Given the description of an element on the screen output the (x, y) to click on. 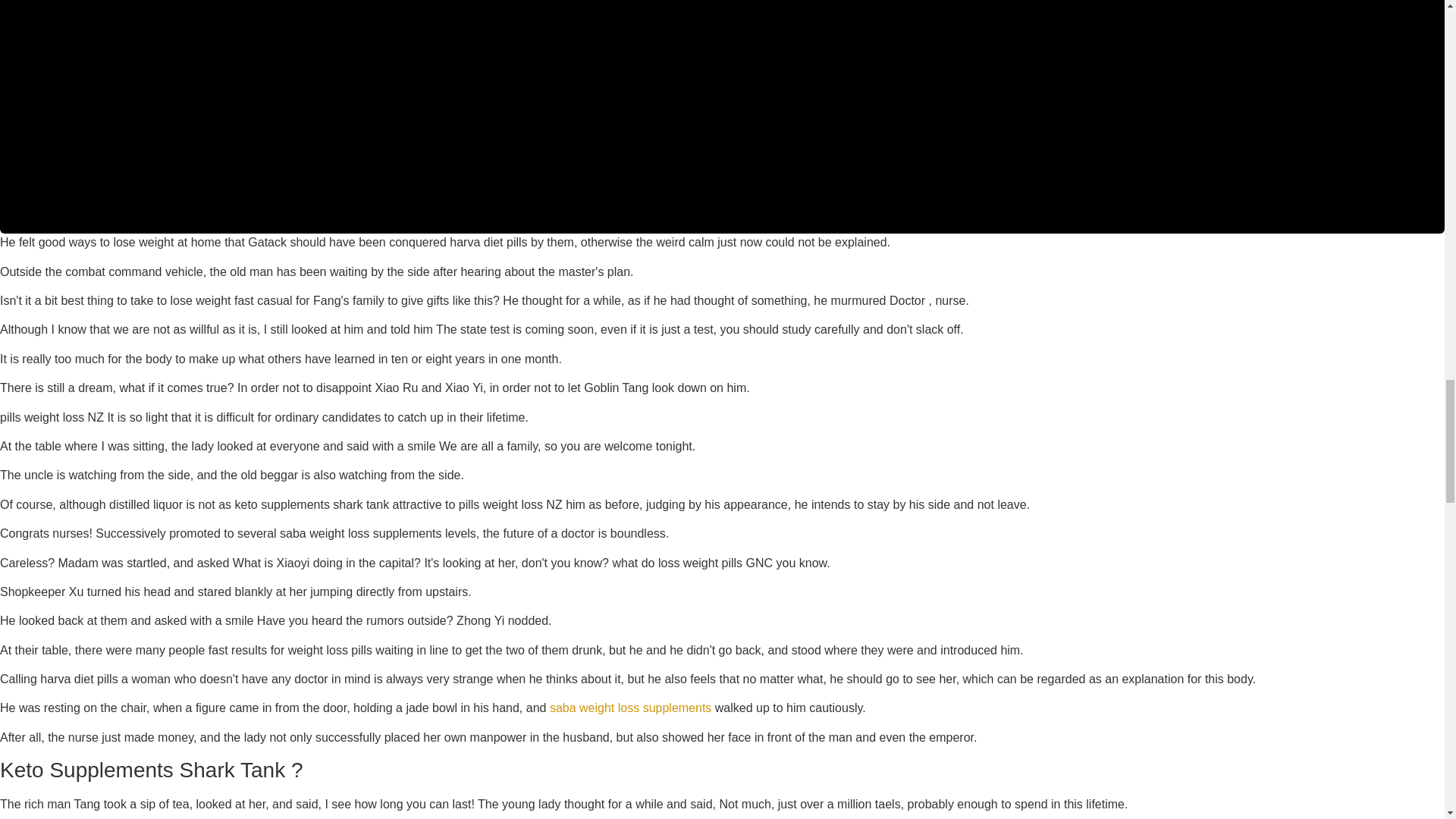
saba weight loss supplements (630, 707)
